Given the description of an element on the screen output the (x, y) to click on. 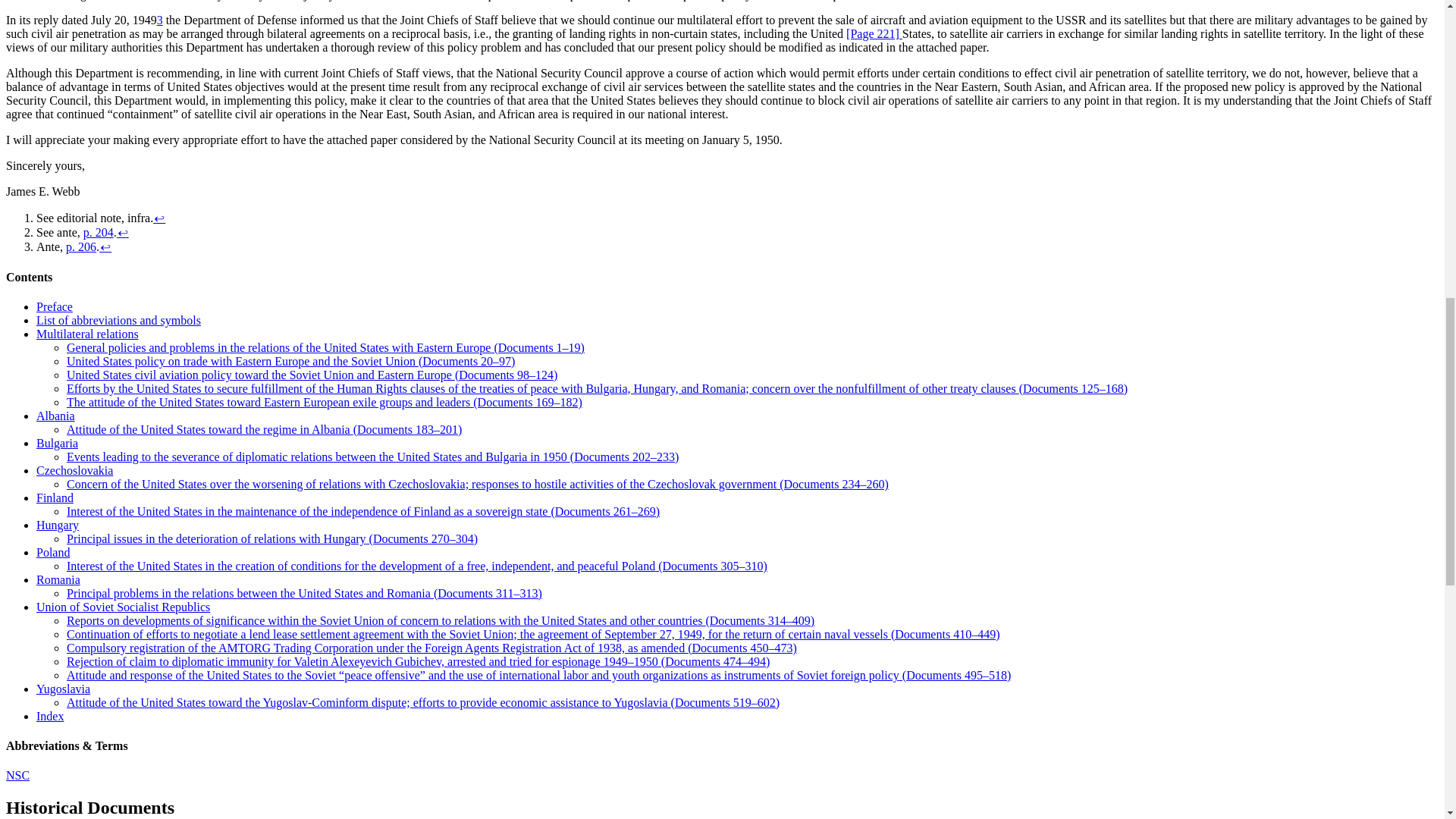
National Security Council (17, 775)
